Given the description of an element on the screen output the (x, y) to click on. 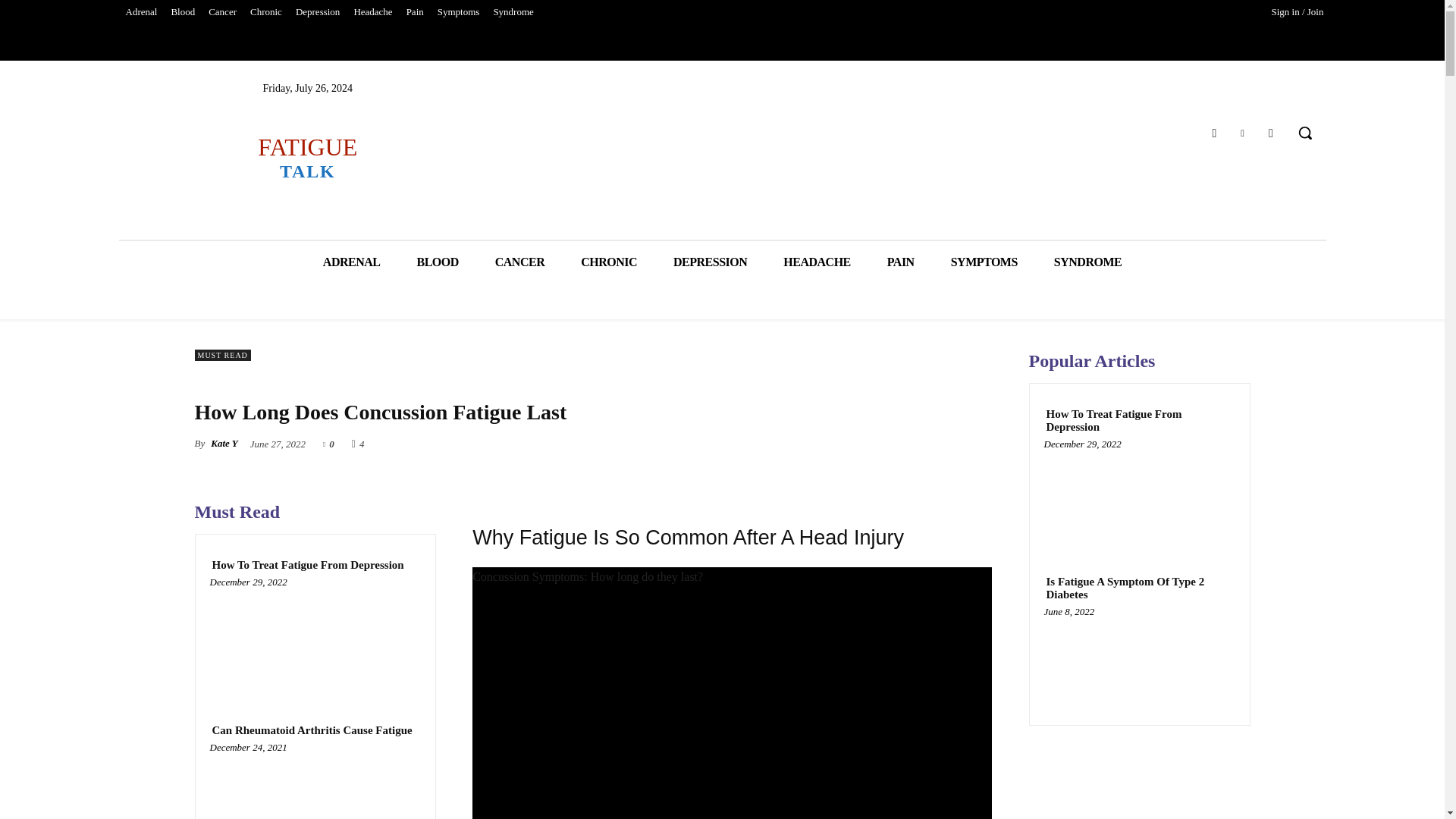
Chronic (265, 12)
BLOOD (436, 261)
Syndrome (513, 12)
SYMPTOMS (984, 261)
Headache (372, 12)
Cancer (222, 12)
Pain (414, 12)
ADRENAL (351, 261)
PAIN (901, 261)
Symptoms (458, 12)
How To Treat Fatigue From Depression (314, 638)
HEADACHE (816, 261)
Blood (182, 12)
Youtube (1270, 132)
